Given the description of an element on the screen output the (x, y) to click on. 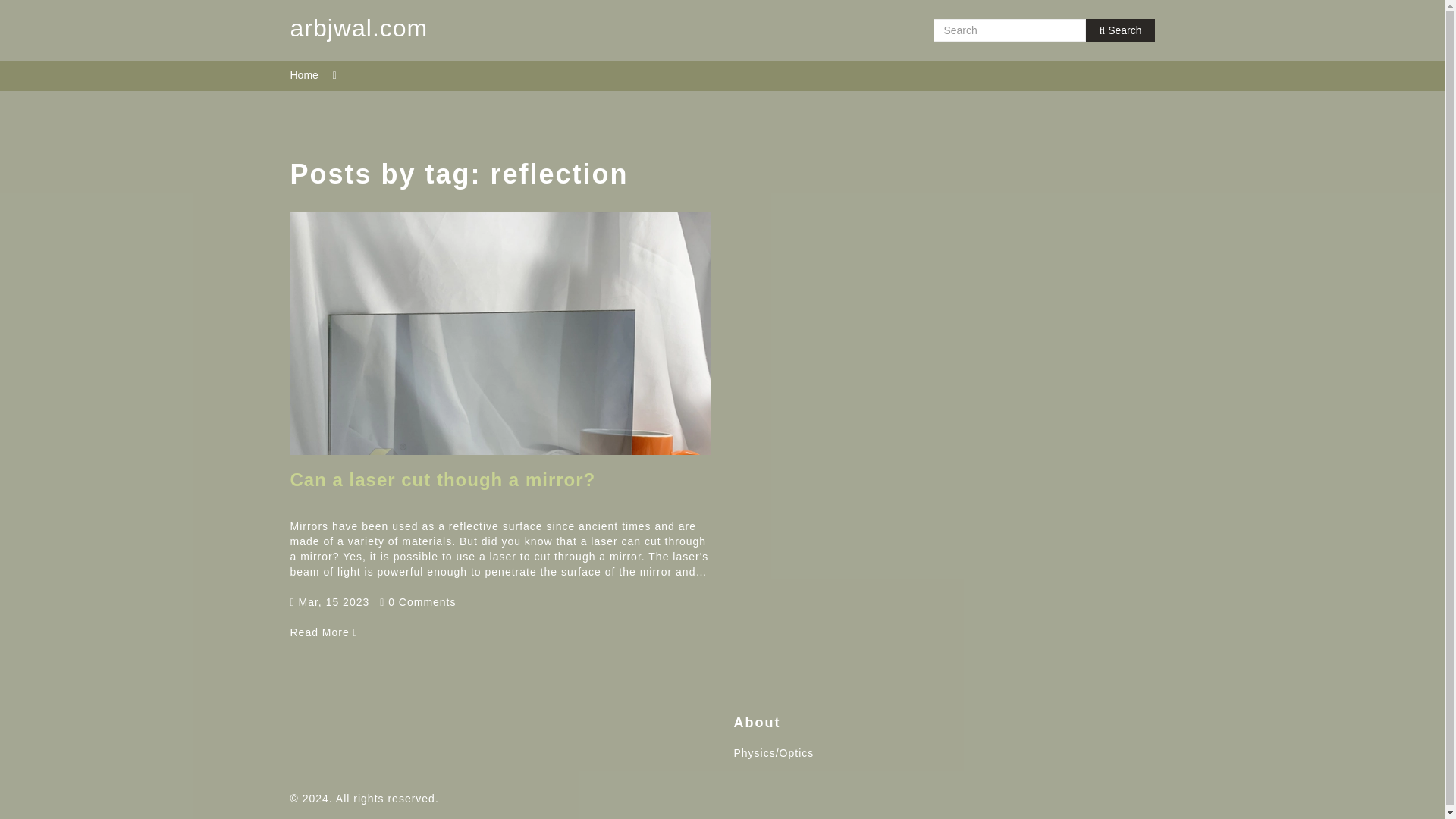
Read More (322, 632)
Can a laser cut though a mirror? (442, 479)
arbjwal.com (358, 30)
Search (1120, 29)
Can a laser cut though a mirror? (322, 632)
